Given the description of an element on the screen output the (x, y) to click on. 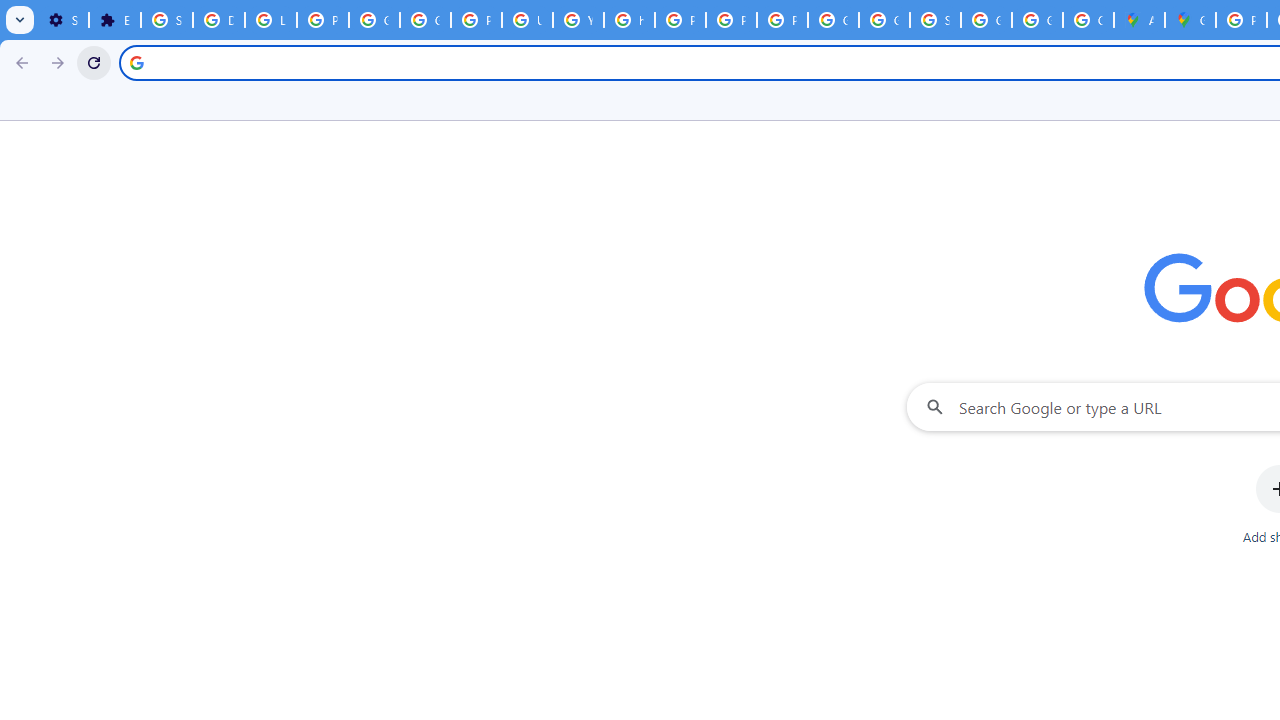
Policy Accountability and Transparency - Transparency Center (1241, 20)
